Given the description of an element on the screen output the (x, y) to click on. 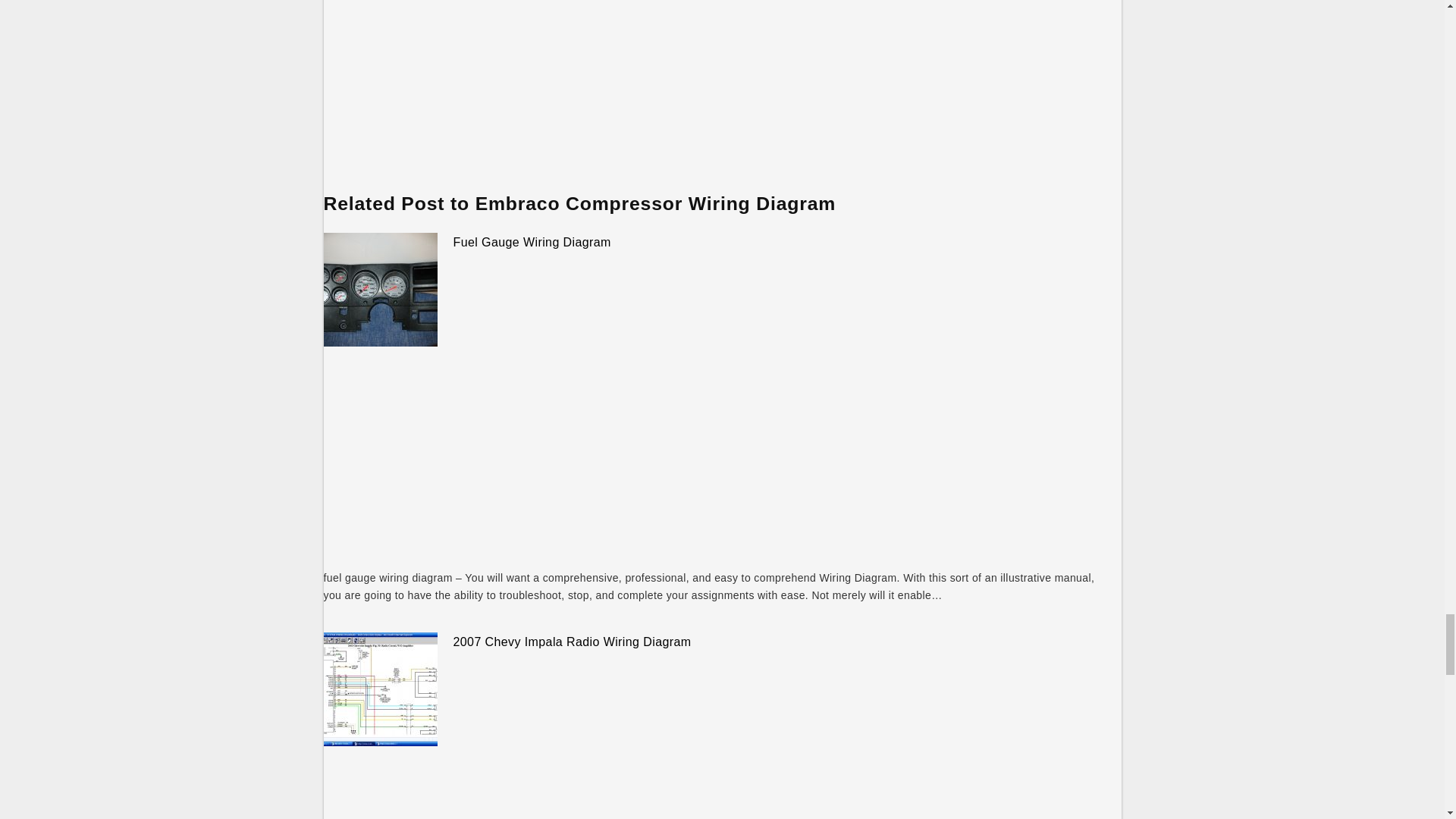
Fuel Gauge Wiring Diagram (531, 241)
2007 Chevy Impala Radio Wiring Diagram (571, 641)
